Given the description of an element on the screen output the (x, y) to click on. 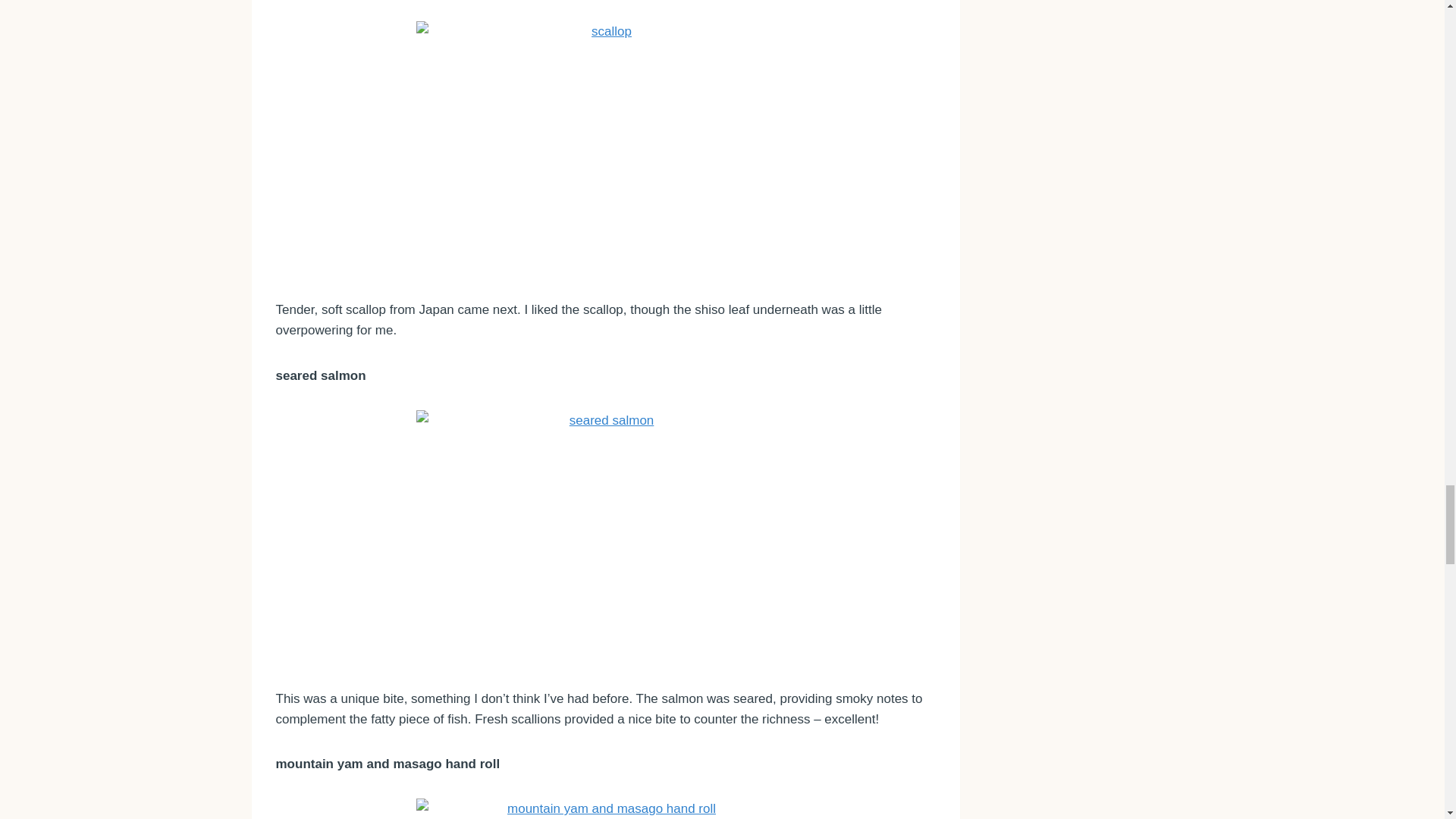
mountain yam and masago hand roll by Darin Dines, on Flickr (606, 808)
